Given the description of an element on the screen output the (x, y) to click on. 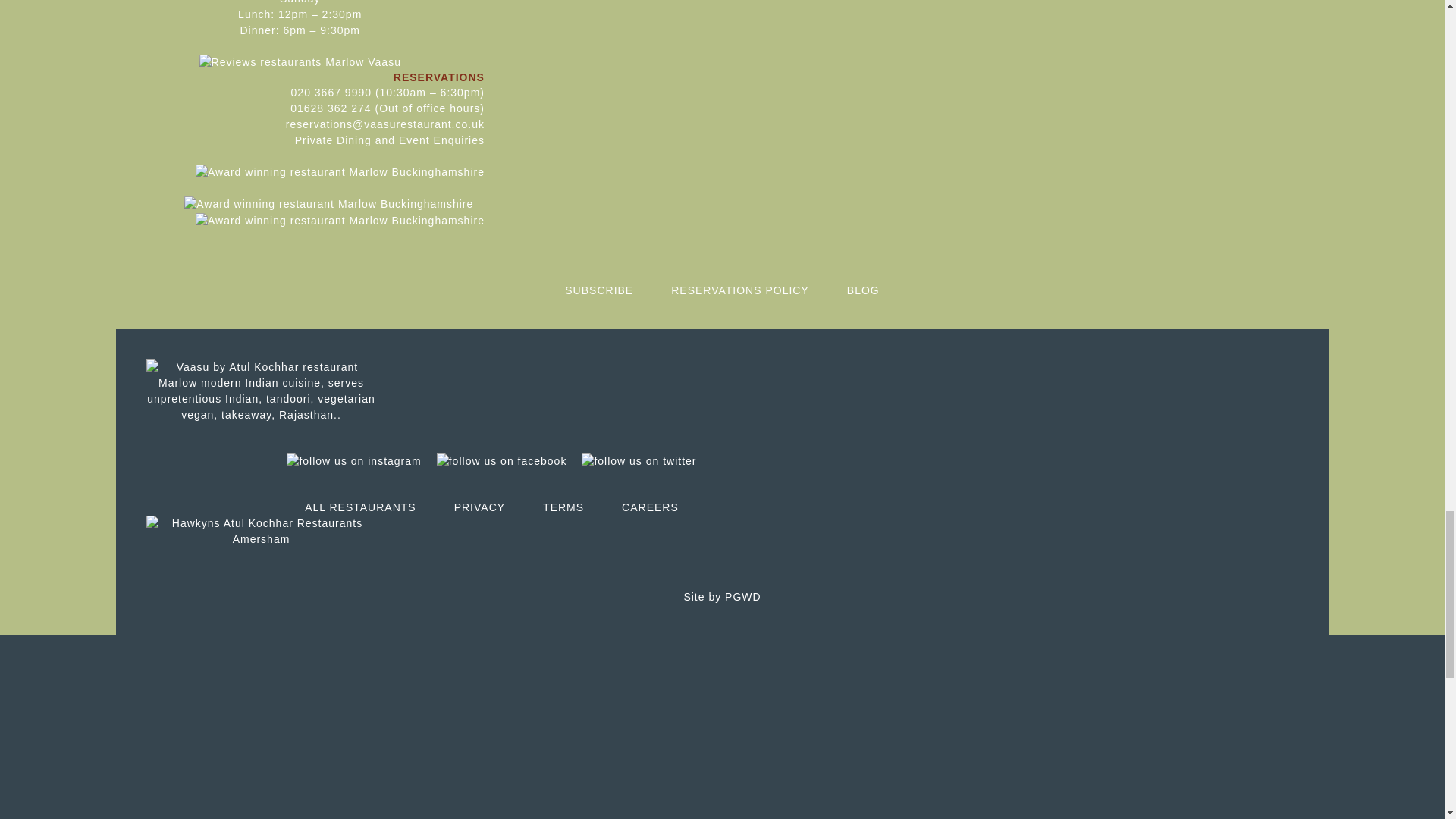
ALL RESTAURANTS (359, 507)
Contact restaurant Marlow (389, 140)
Site by PGWD (721, 596)
020 3667 9990 (331, 92)
PRIVACY (479, 507)
Call Vaasu restaurant Marlow (330, 108)
SUBSCRIBE (598, 290)
